Given the description of an element on the screen output the (x, y) to click on. 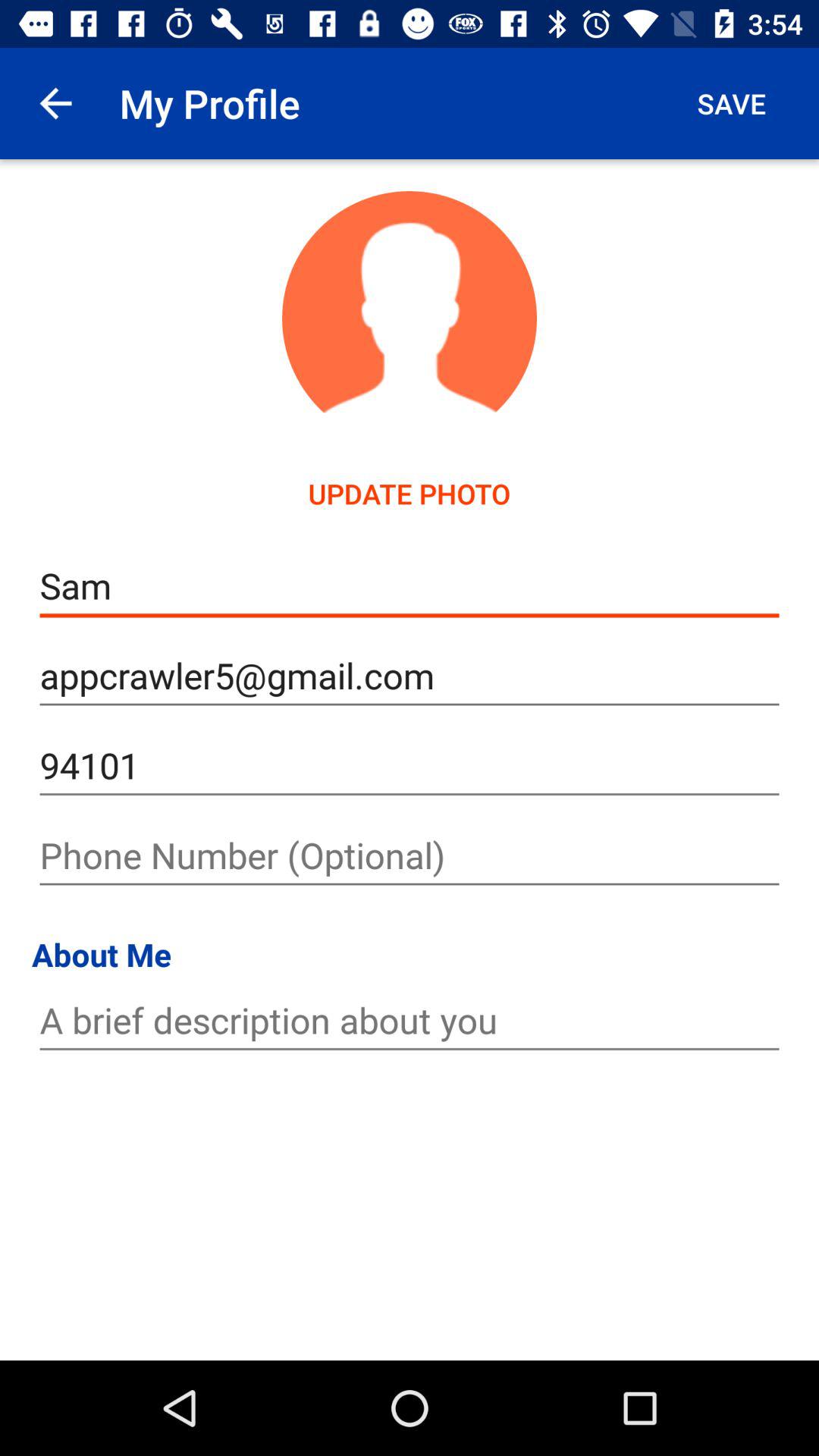
swipe to the appcrawler5@gmail.com item (409, 676)
